Given the description of an element on the screen output the (x, y) to click on. 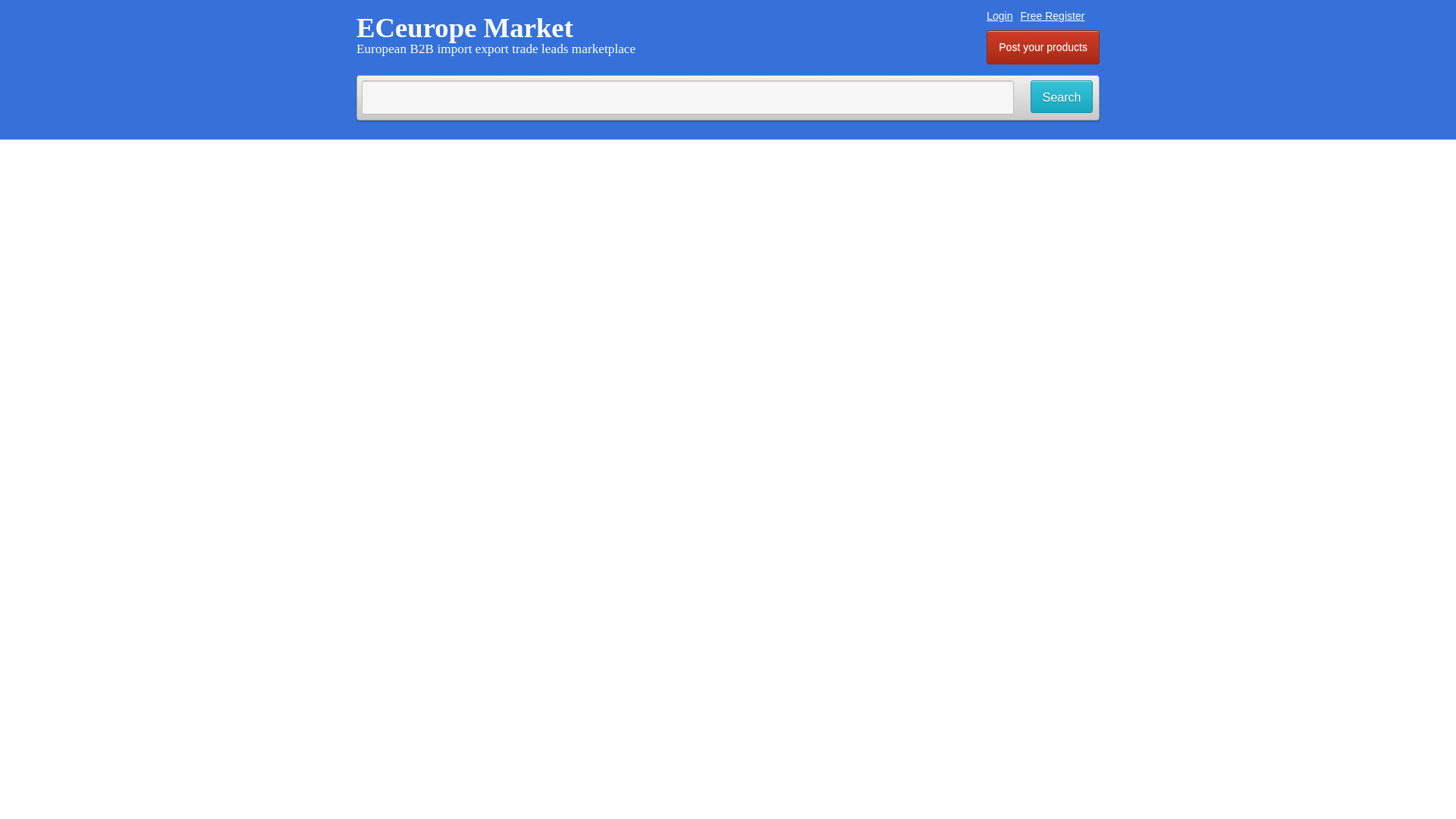
Free Register (1052, 15)
Search (1061, 96)
Post your products (1043, 47)
Login (999, 15)
ECeurope Market (464, 27)
